Given the description of an element on the screen output the (x, y) to click on. 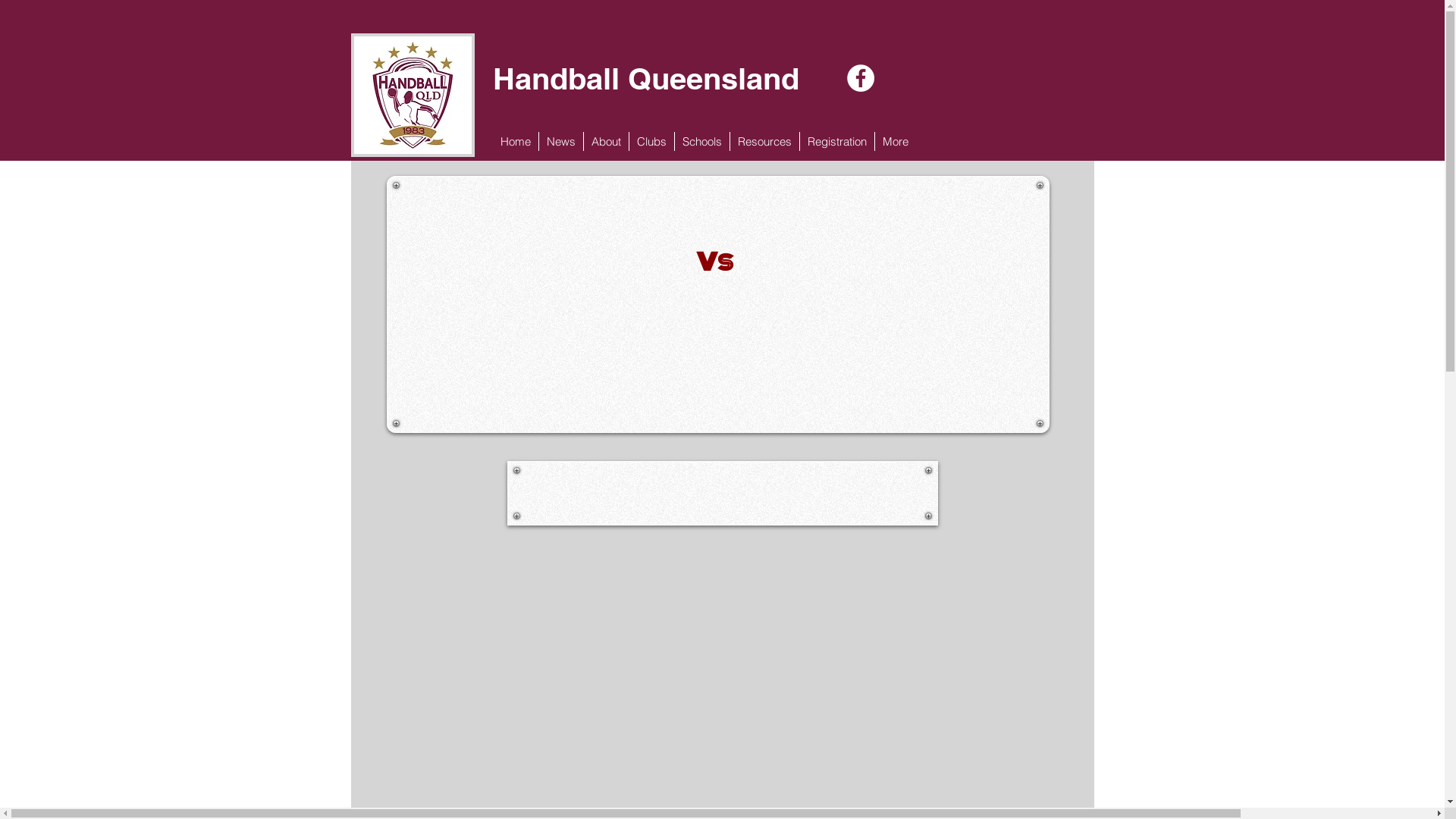
Schools Element type: text (700, 140)
Handball Queensland   Element type: text (648, 78)
News Element type: text (560, 140)
Registration Element type: text (836, 140)
Clubs Element type: text (650, 140)
Home Element type: text (515, 140)
